Given the description of an element on the screen output the (x, y) to click on. 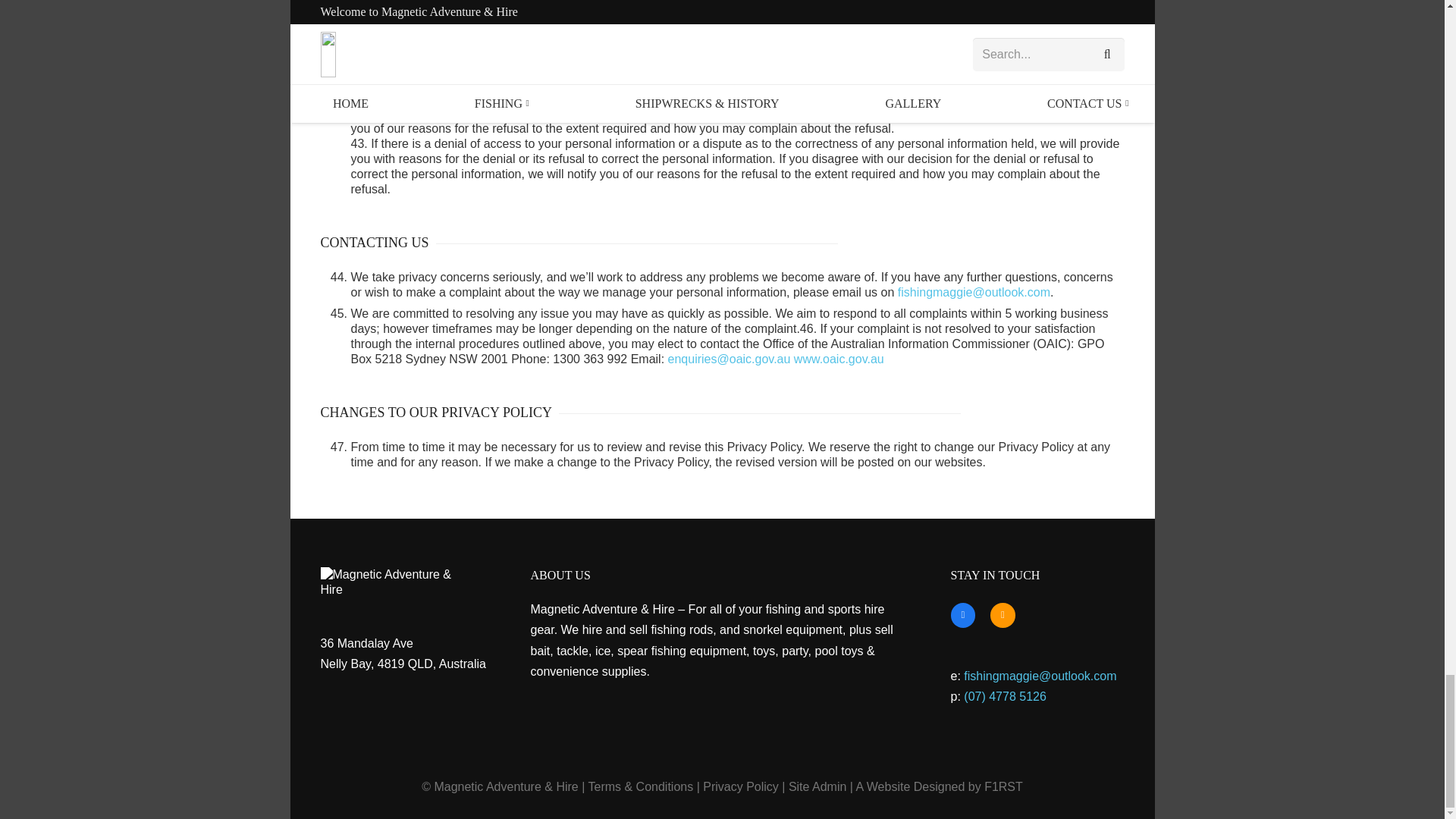
Facebook (962, 615)
www.oaic.gov.au (838, 358)
Home (395, 582)
A Website Designed by F1RST (939, 786)
Privacy Policy (740, 786)
RSS (1002, 615)
Site Admin (817, 786)
